Given the description of an element on the screen output the (x, y) to click on. 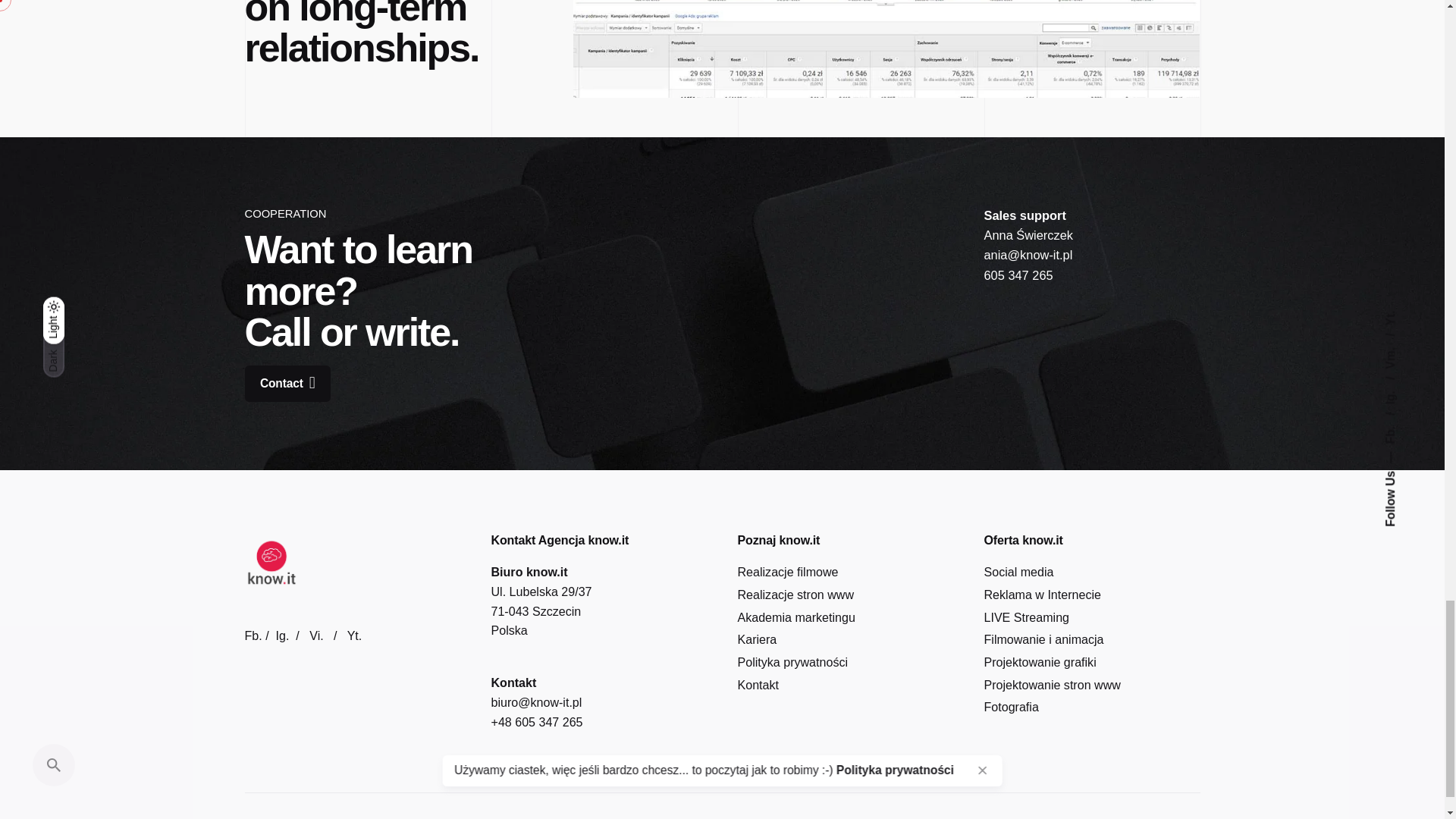
case-reklama-w-internecie (886, 48)
